Given the description of an element on the screen output the (x, y) to click on. 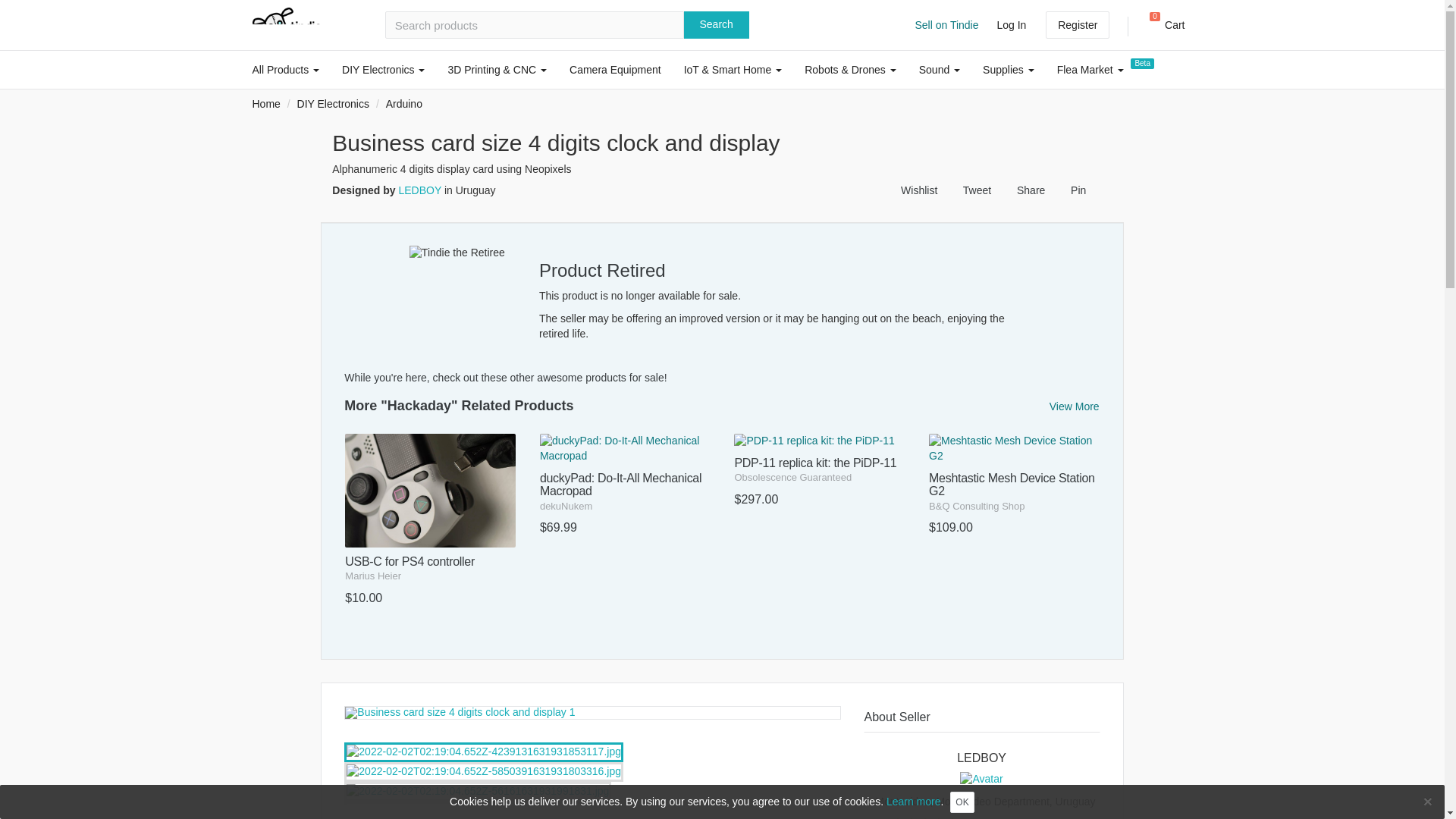
Register (1077, 24)
Search (716, 24)
duckyPad: Do-It-All Mechanical Macropad (624, 493)
All Products (286, 69)
Sell on Tindie (946, 24)
Tindie (285, 24)
USB-C for PS4 controller (1161, 25)
Meshtastic Mesh Device Station G2 (430, 528)
Log In (1014, 493)
